Given the description of an element on the screen output the (x, y) to click on. 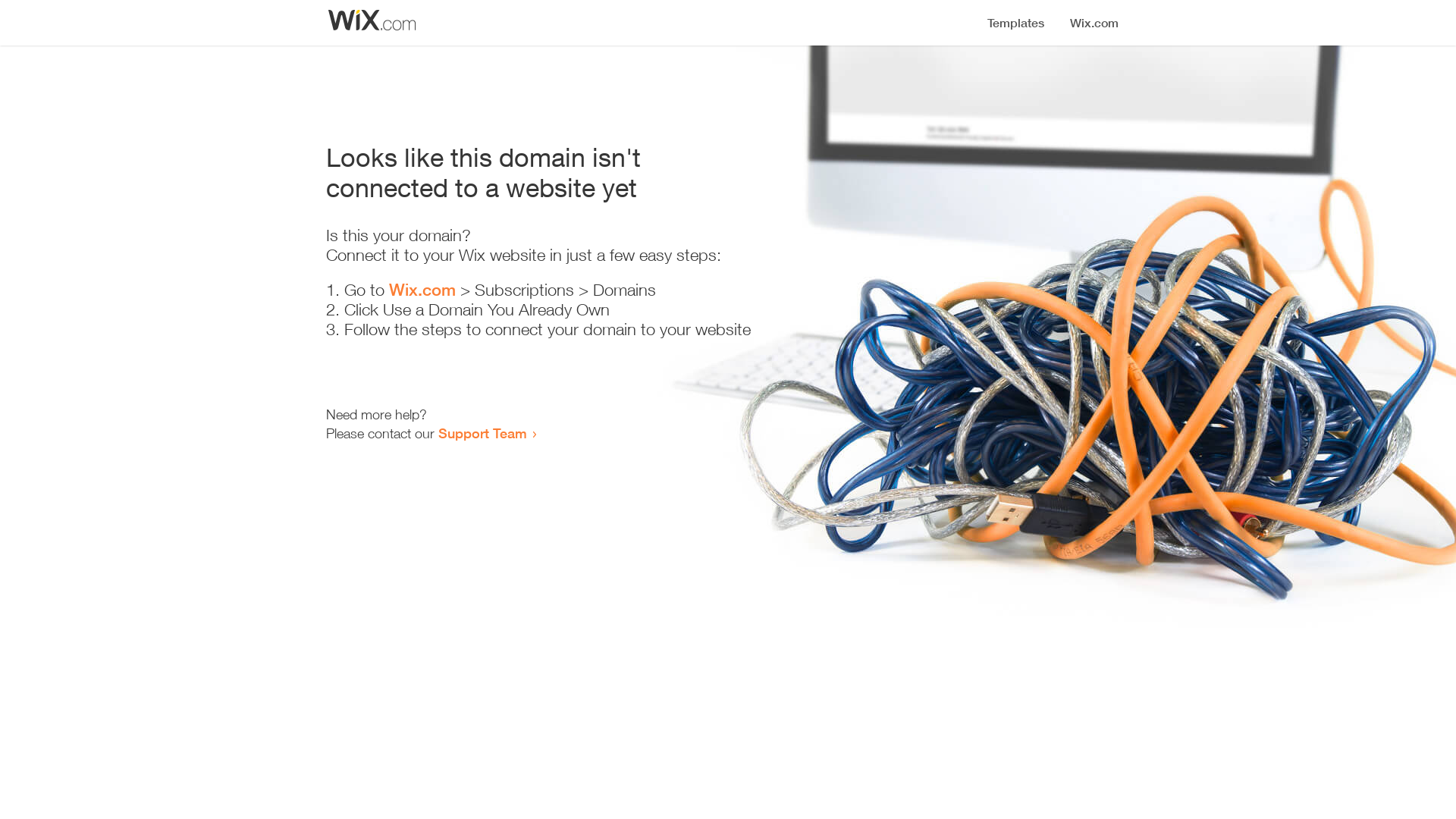
Wix.com Element type: text (422, 289)
Support Team Element type: text (482, 432)
